Given the description of an element on the screen output the (x, y) to click on. 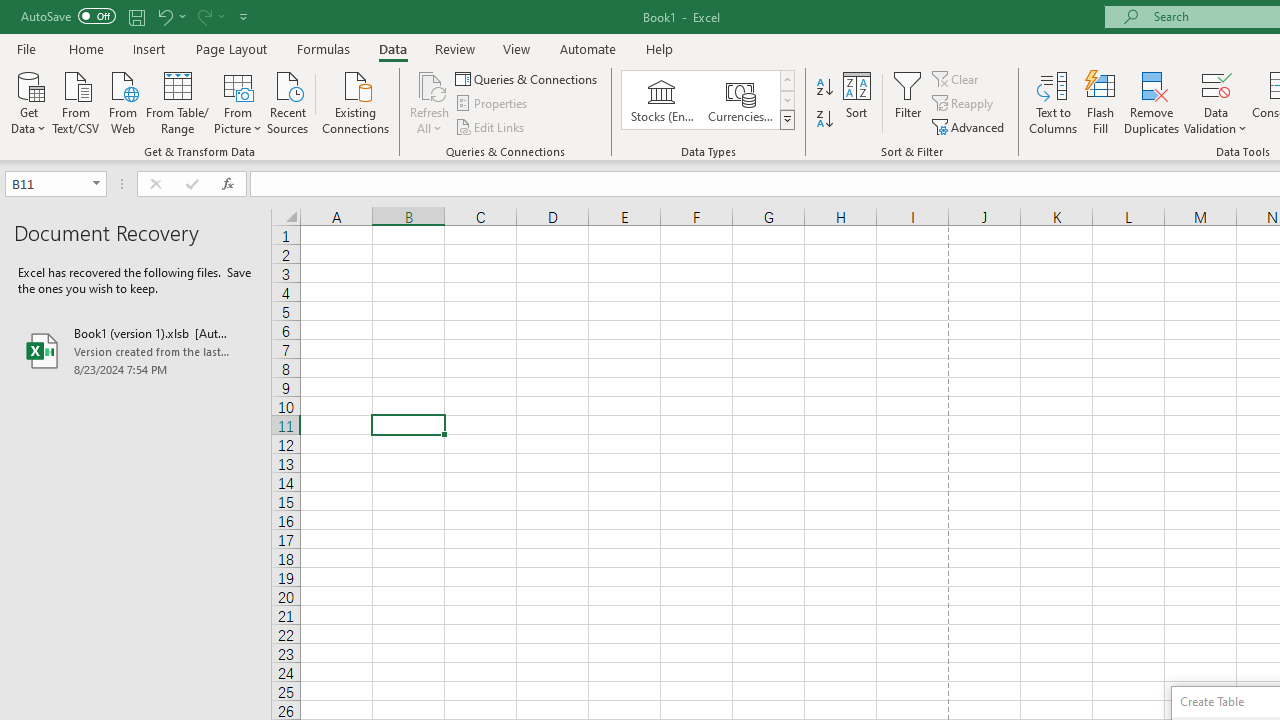
Sort Z to A (824, 119)
Existing Connections (355, 101)
Flash Fill (1101, 102)
Currencies (English) (740, 100)
